Given the description of an element on the screen output the (x, y) to click on. 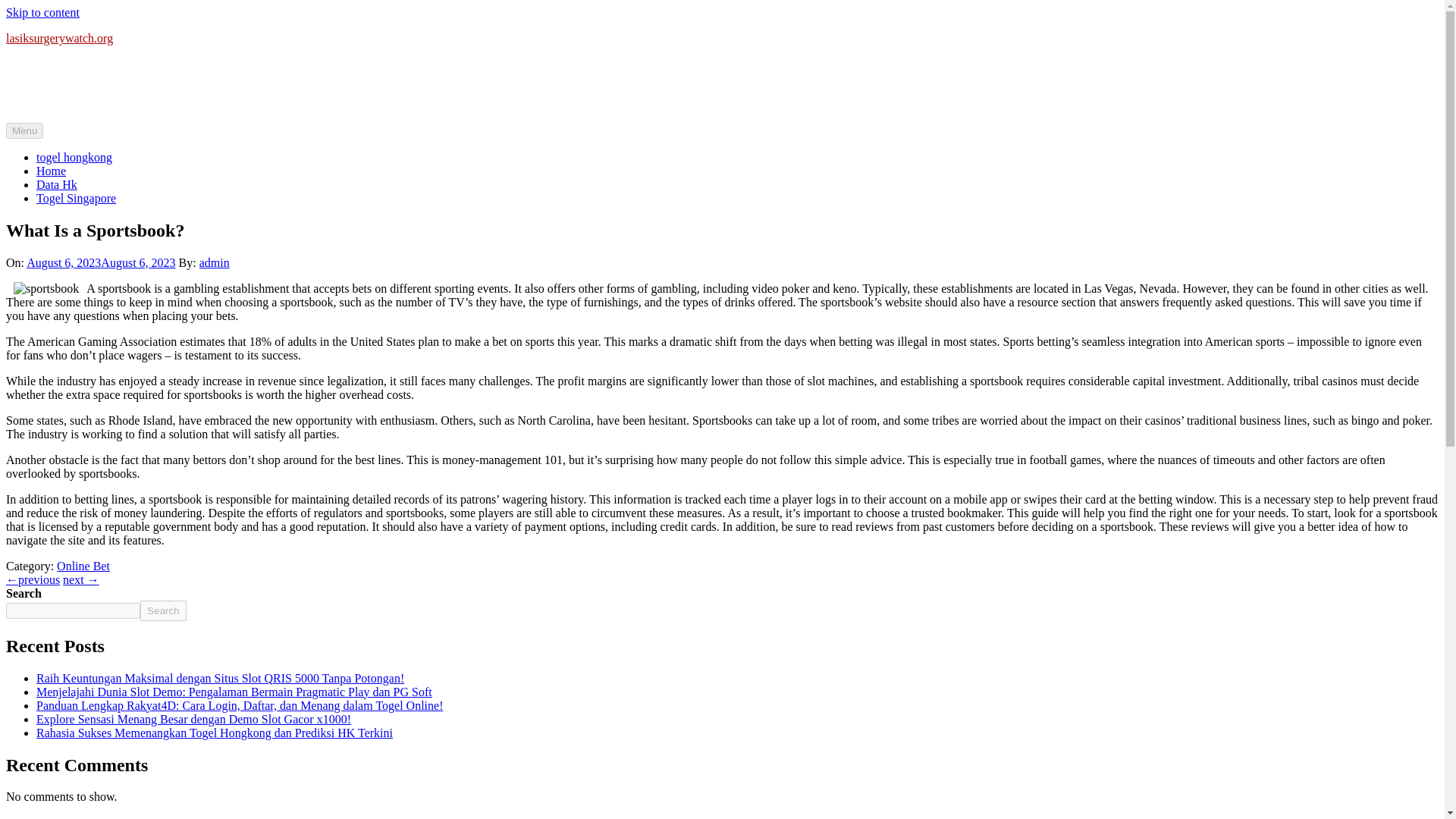
Menu (24, 130)
Skip to content (42, 11)
Data Hk (56, 184)
Home (50, 170)
Online Bet (83, 565)
August 6, 2023August 6, 2023 (100, 262)
admin (214, 262)
togel hongkong (74, 156)
Explore Sensasi Menang Besar dengan Demo Slot Gacor x1000! (193, 718)
lasiksurgerywatch.org (59, 38)
Search (162, 610)
